Given the description of an element on the screen output the (x, y) to click on. 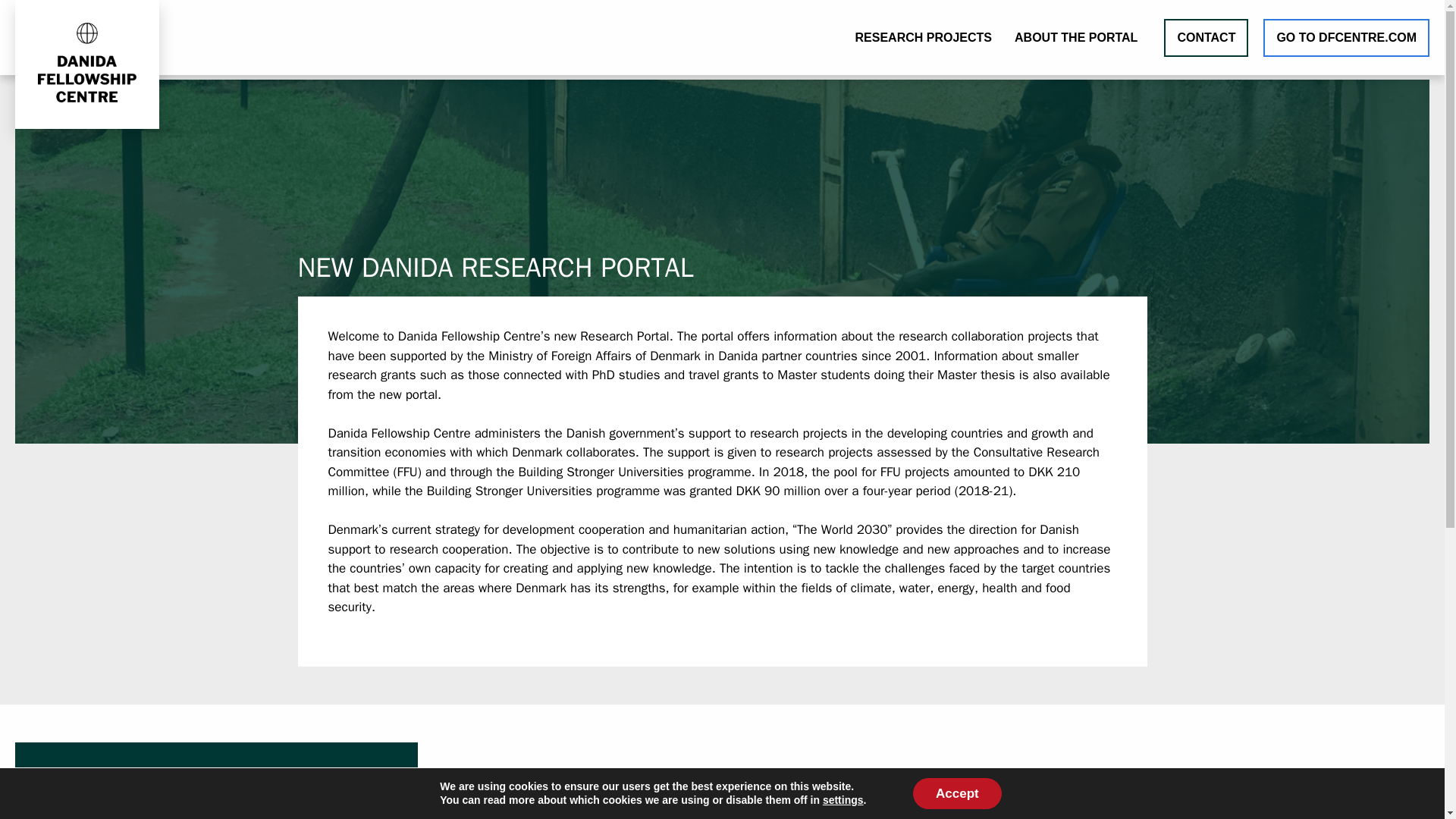
CONTACT (1206, 36)
RESEARCH PROJECTS (923, 36)
Accept (956, 793)
ABOUT THE PORTAL (1075, 36)
GO TO DFCENTRE.COM (1346, 36)
